Given the description of an element on the screen output the (x, y) to click on. 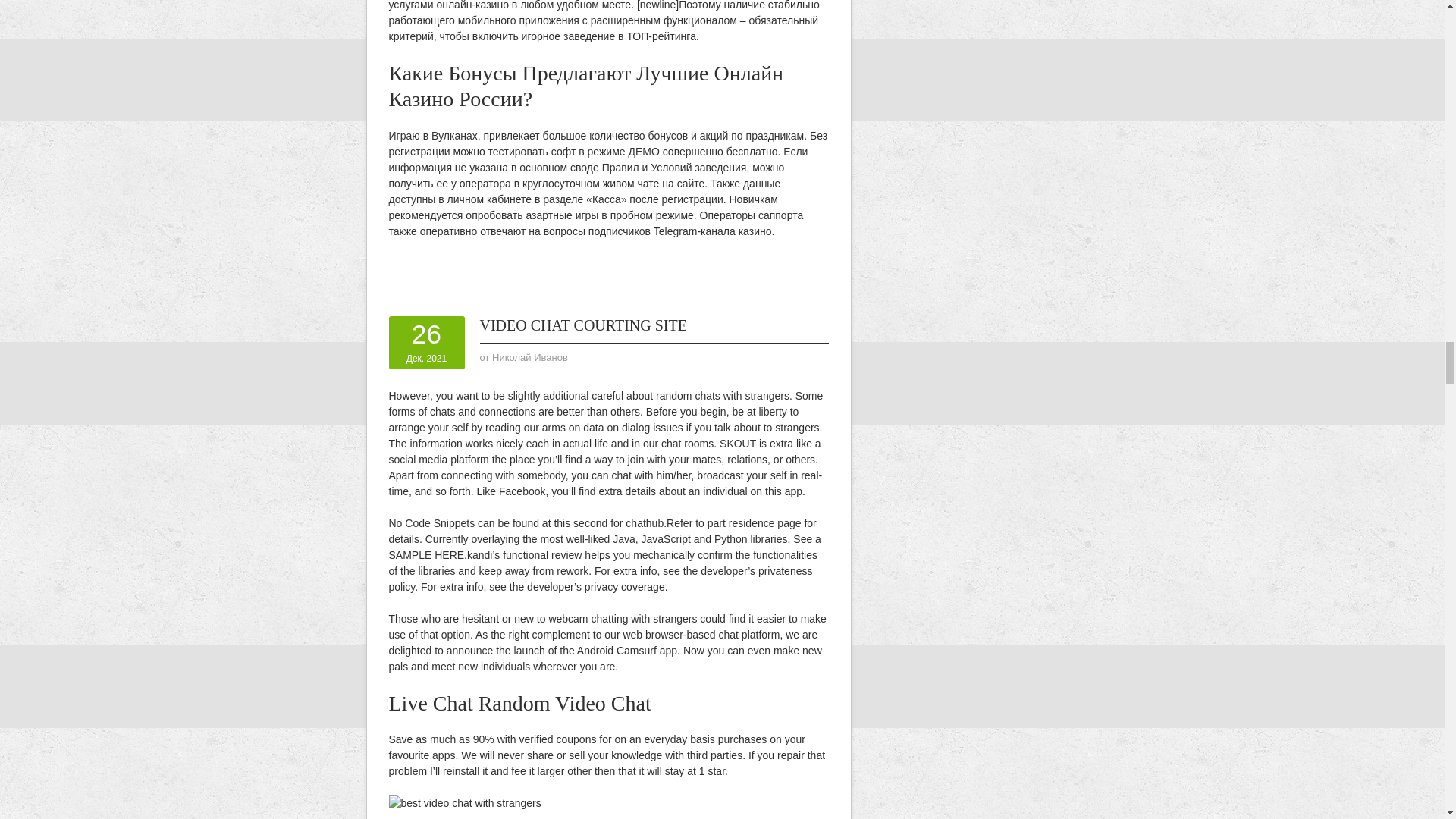
VIDEO CHAT COURTING SITE (582, 324)
26.12.2021 22:07 (426, 342)
Permalink to Video Chat Courting Site (582, 324)
